Given the description of an element on the screen output the (x, y) to click on. 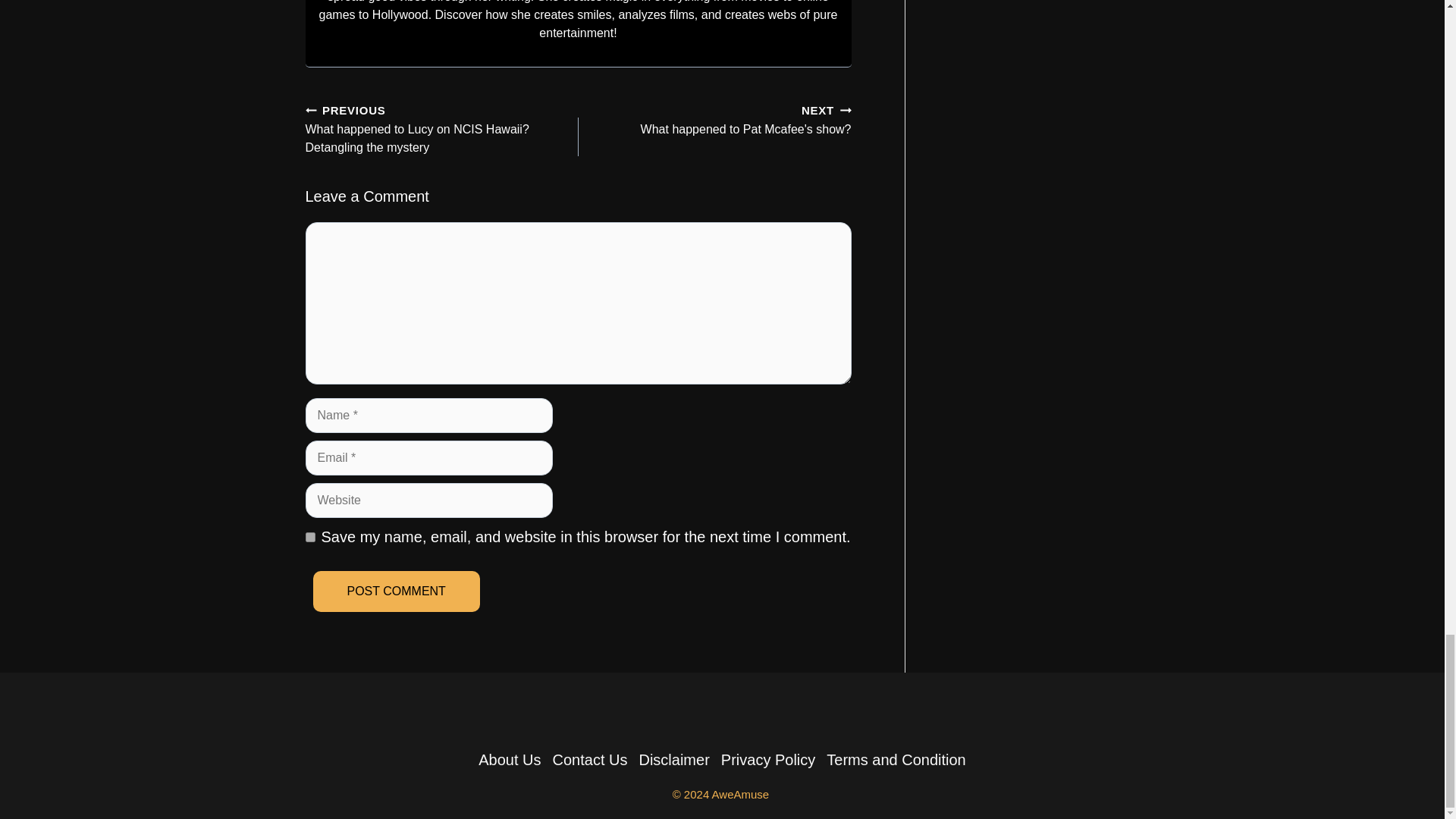
Privacy Policy (767, 759)
PREVIOUS (309, 110)
Disclaimer (674, 759)
Post Comment (719, 117)
Terms and Condition (396, 590)
Contact Us (896, 759)
Post Comment (590, 759)
About Us (396, 590)
